Given the description of an element on the screen output the (x, y) to click on. 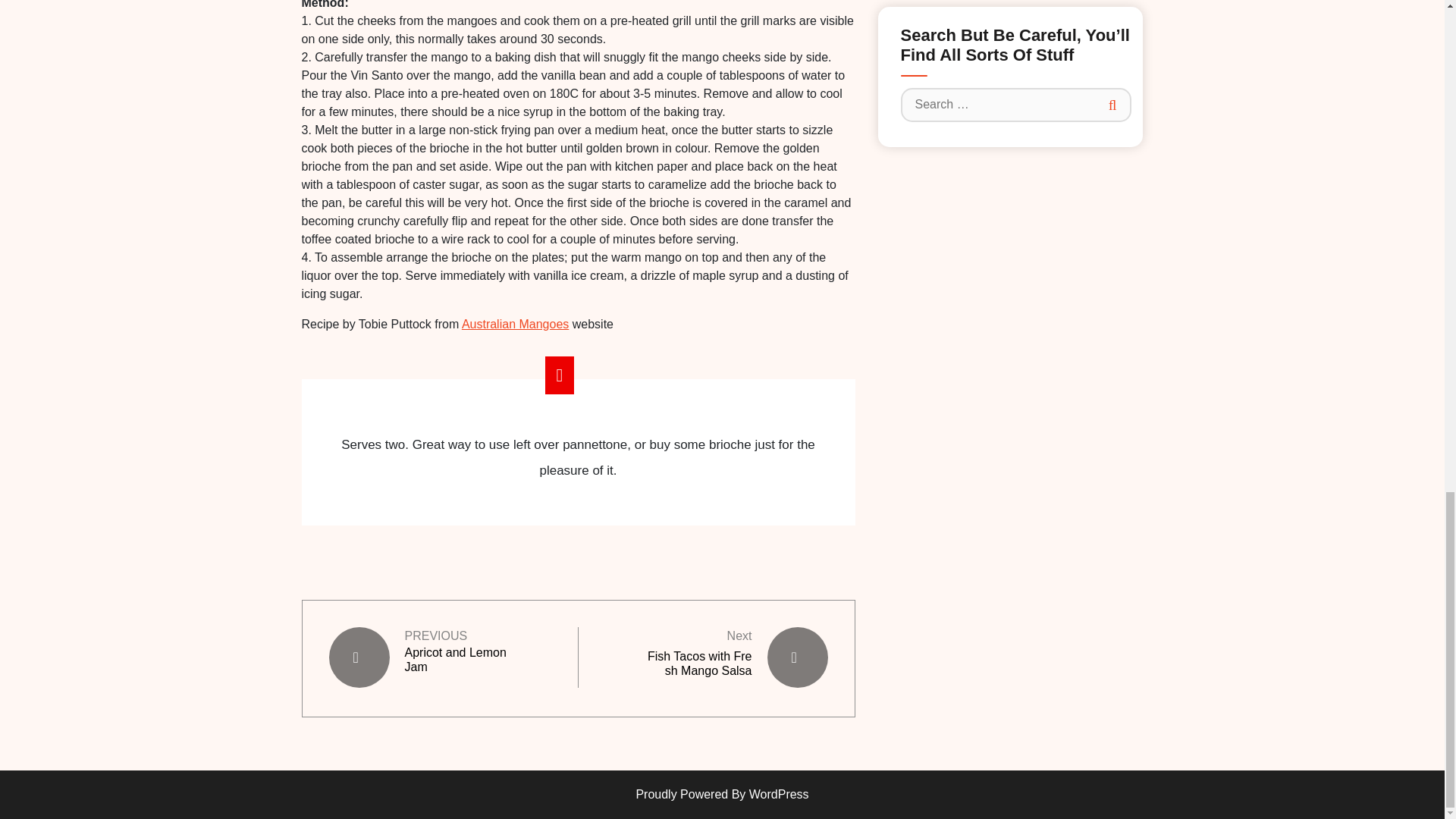
PREVIOUS (435, 635)
Fish Tacos with Fresh Mango Salsa (699, 662)
Apricot and Lemon Jam (457, 658)
Search (1114, 106)
Search (1114, 106)
Search (1114, 106)
Next (739, 635)
Australian Mangoes (515, 323)
